Given the description of an element on the screen output the (x, y) to click on. 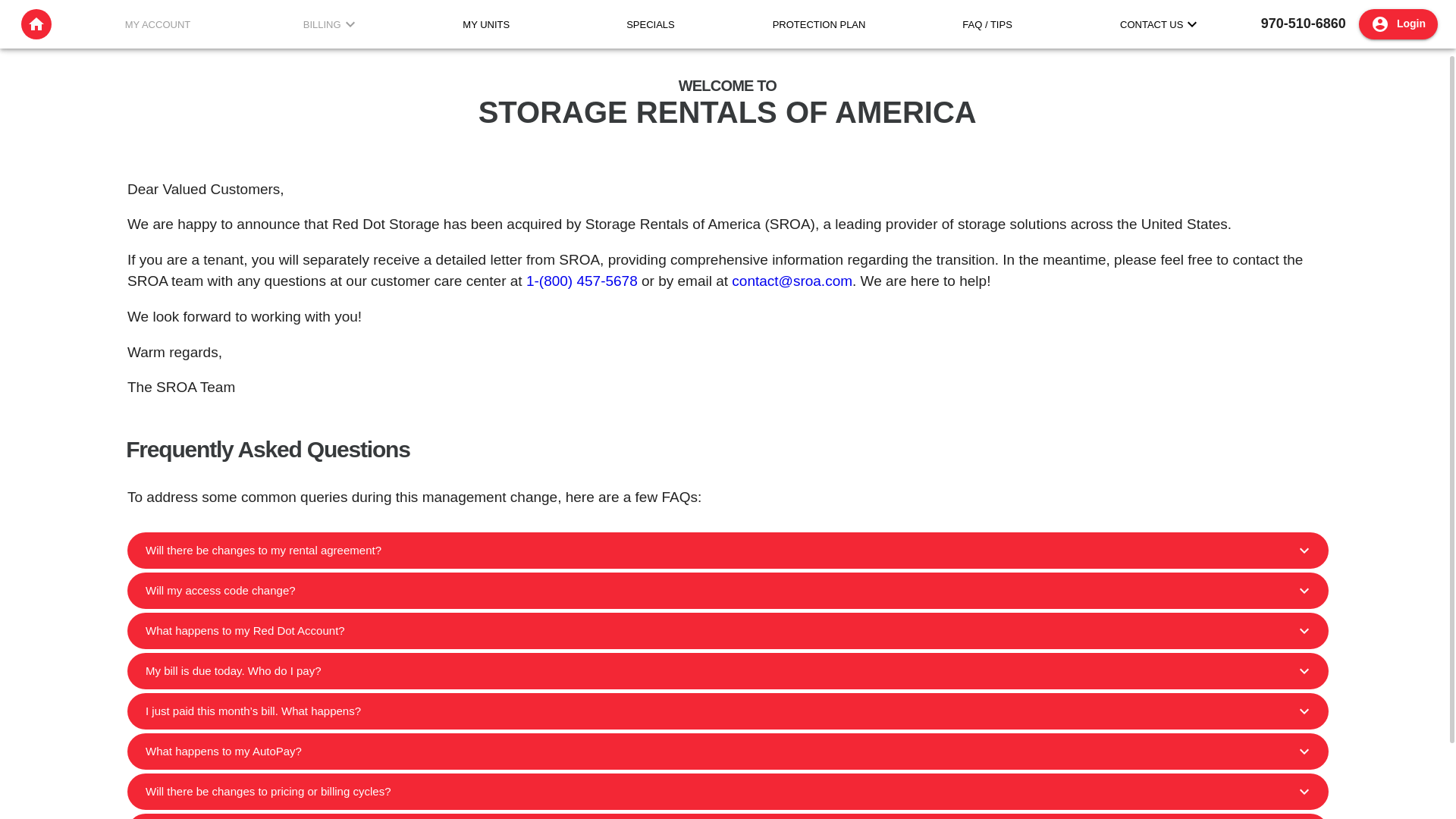
CONTACT US (1151, 23)
MY UNITS (486, 23)
Login (1398, 24)
PROTECTION PLAN (818, 23)
970-510-6860 (1303, 23)
BILLING (322, 23)
MY ACCOUNT (157, 23)
SPECIALS (650, 23)
